Given the description of an element on the screen output the (x, y) to click on. 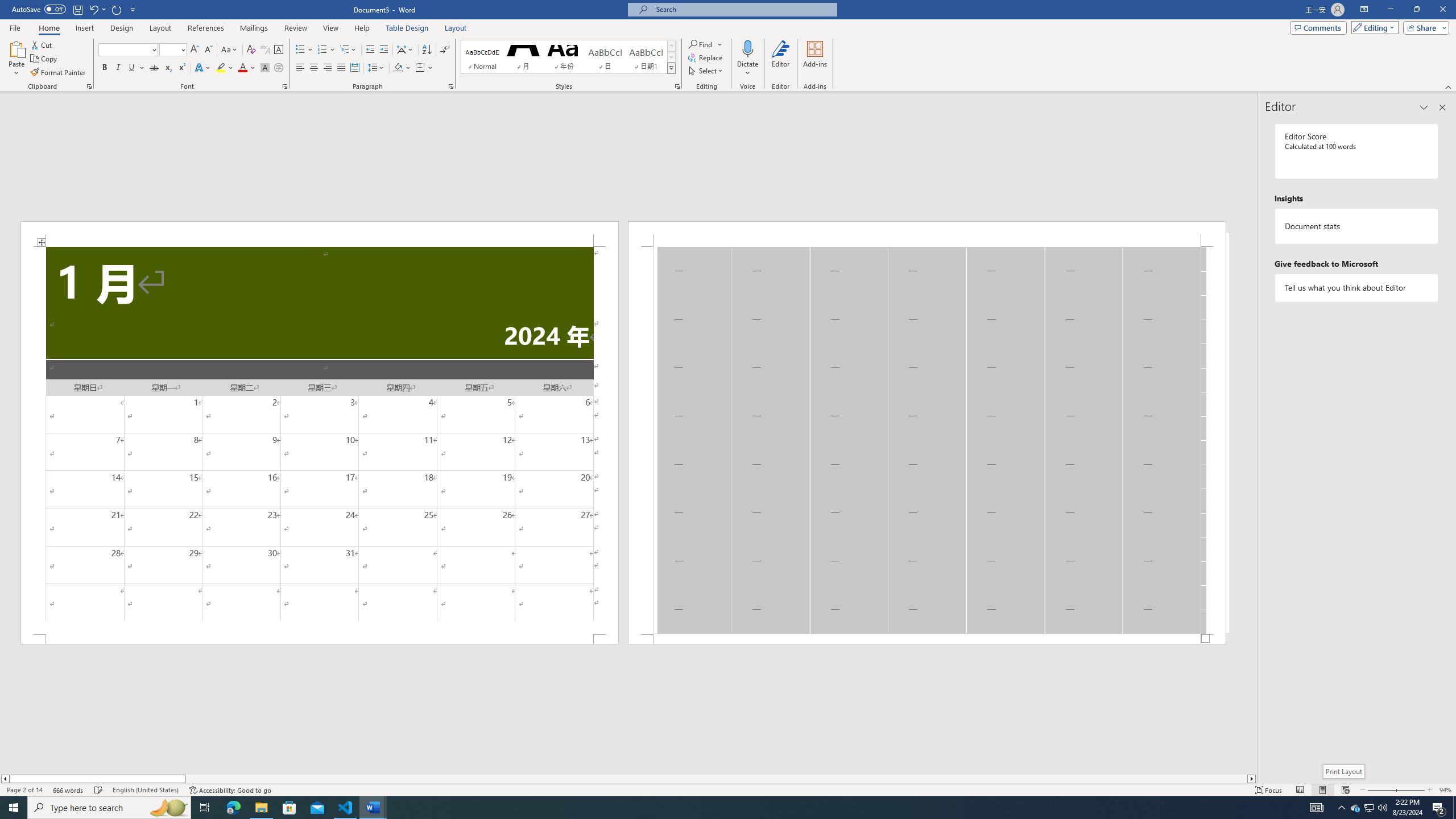
Undo Apply Quick Style (96, 9)
Page 2 content (926, 439)
Justify (340, 67)
Header -Section 1- (926, 233)
Text Highlight Color Yellow (220, 67)
Line and Paragraph Spacing (376, 67)
Align Right (327, 67)
